Given the description of an element on the screen output the (x, y) to click on. 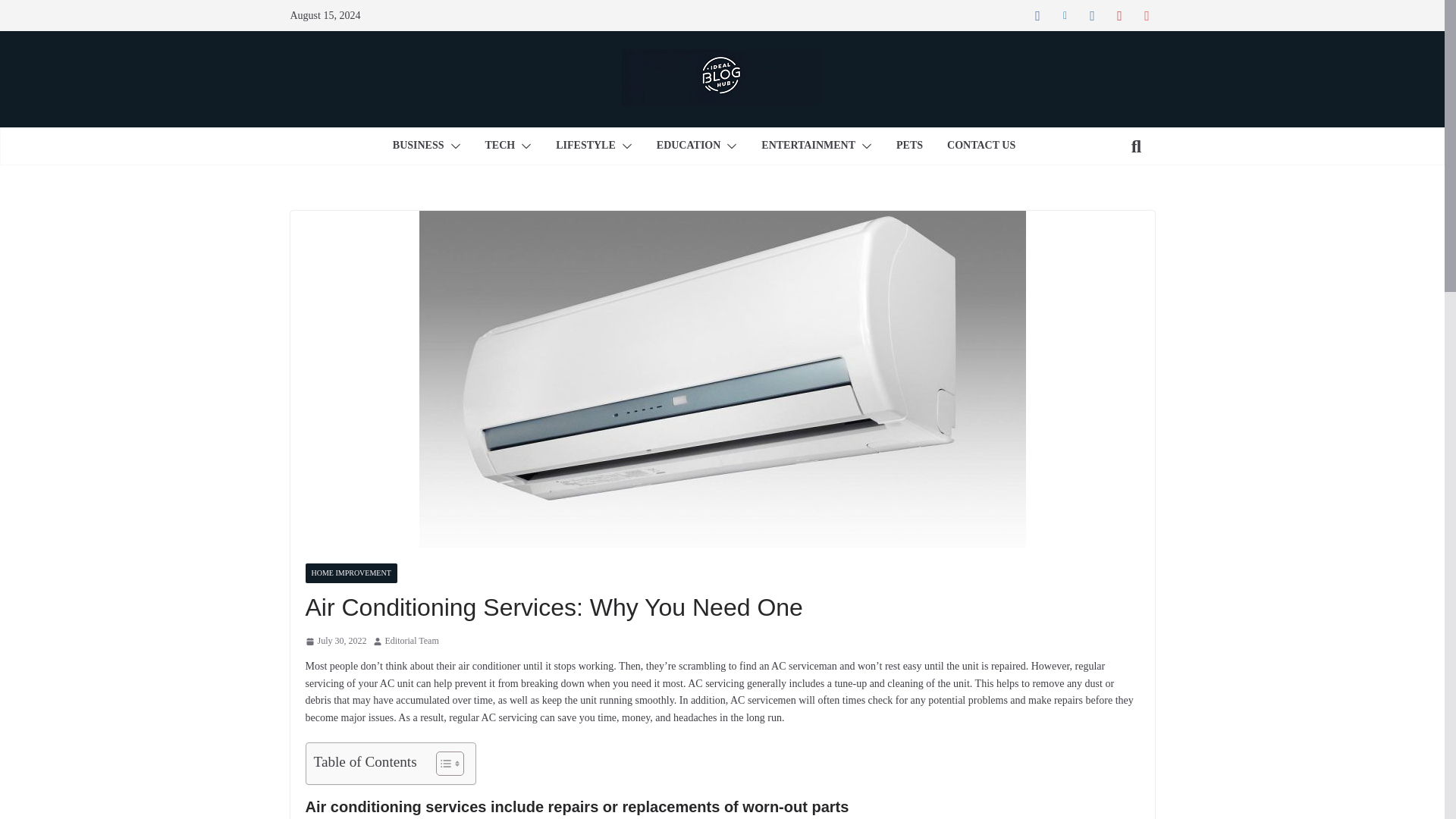
Editorial Team (412, 641)
2:53 am (335, 641)
EDUCATION (688, 146)
July 30, 2022 (335, 641)
LIFESTYLE (585, 146)
CONTACT US (980, 146)
HOME IMPROVEMENT (350, 573)
TECH (499, 146)
BUSINESS (418, 146)
ENTERTAINMENT (808, 146)
